Given the description of an element on the screen output the (x, y) to click on. 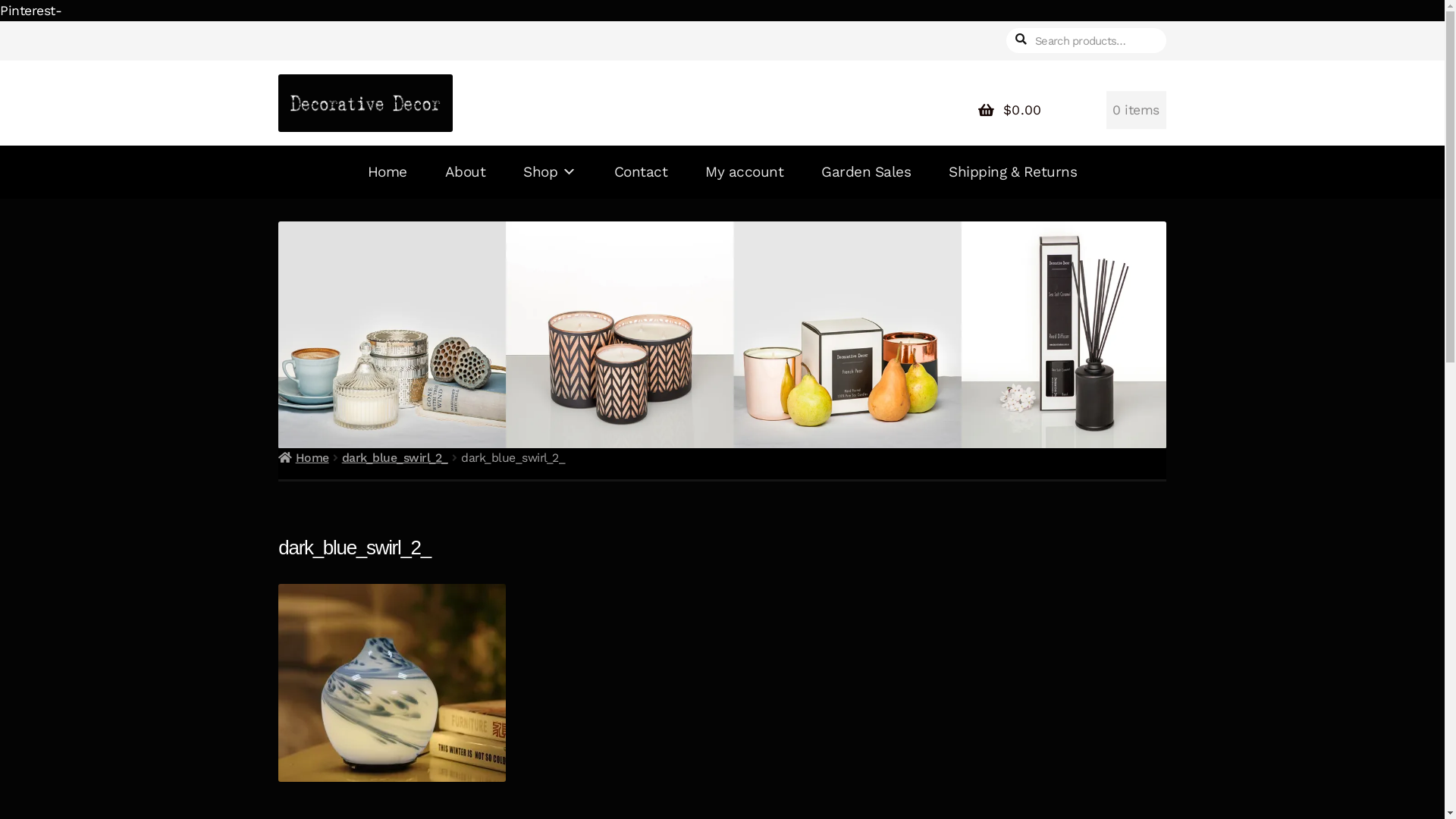
Garden Sales Element type: text (865, 171)
About Element type: text (465, 171)
My account Element type: text (744, 171)
Shipping & Returns Element type: text (1012, 171)
Home Element type: text (387, 171)
Contact Element type: text (641, 171)
Search Element type: text (1005, 20)
Shop Element type: text (549, 171)
Skip to navigation Element type: text (277, 20)
dark_blue_swirl_2_ Element type: text (395, 457)
Home Element type: text (303, 457)
$0.00
0 items Element type: text (1066, 109)
